Given the description of an element on the screen output the (x, y) to click on. 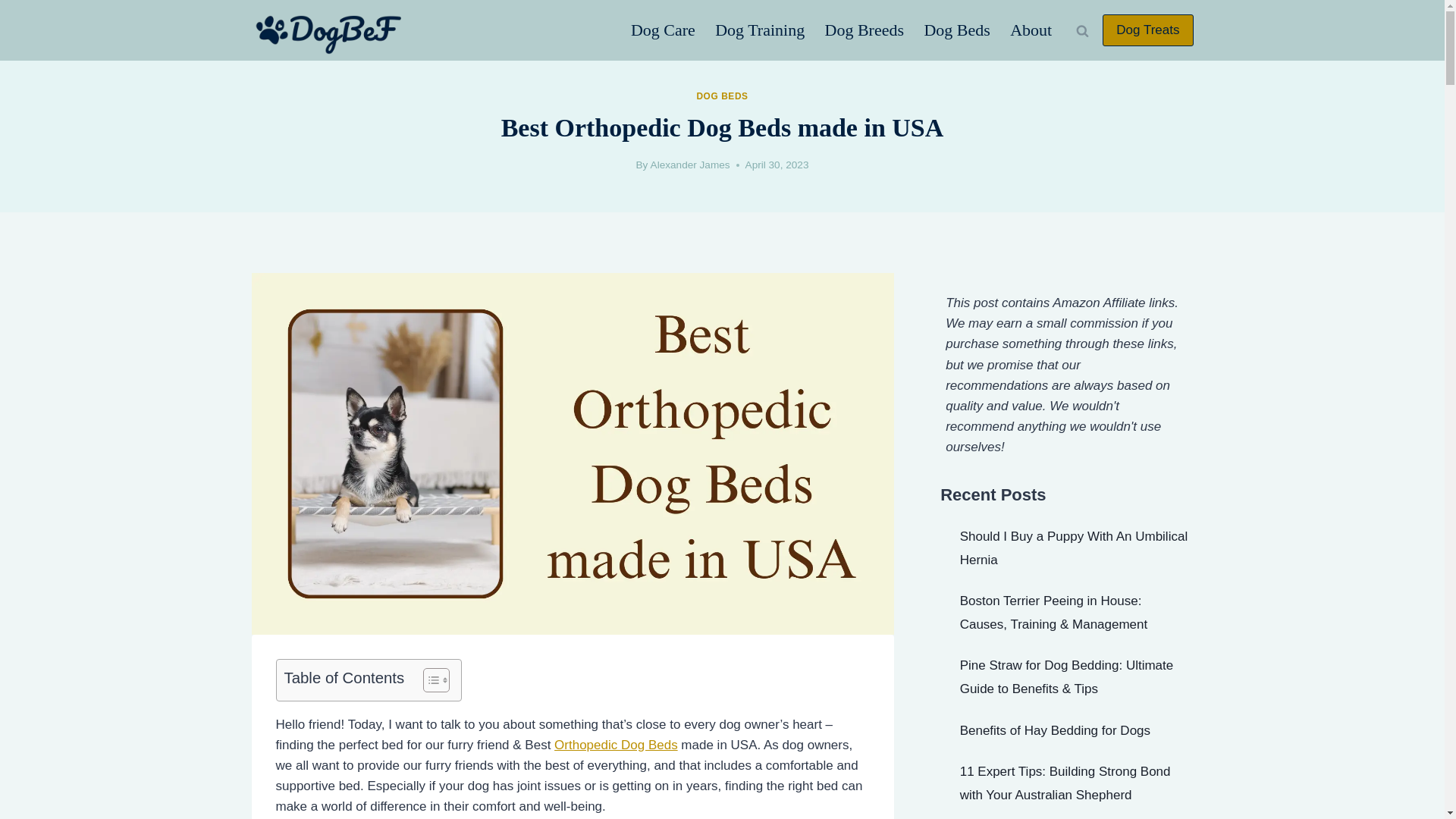
About (1030, 30)
Dog Treats (1147, 30)
Orthopedic Dog Beds (616, 744)
Dog Care (662, 30)
Dog Breeds (863, 30)
Dog Training (758, 30)
Dog Beds (957, 30)
DOG BEDS (721, 95)
